Given the description of an element on the screen output the (x, y) to click on. 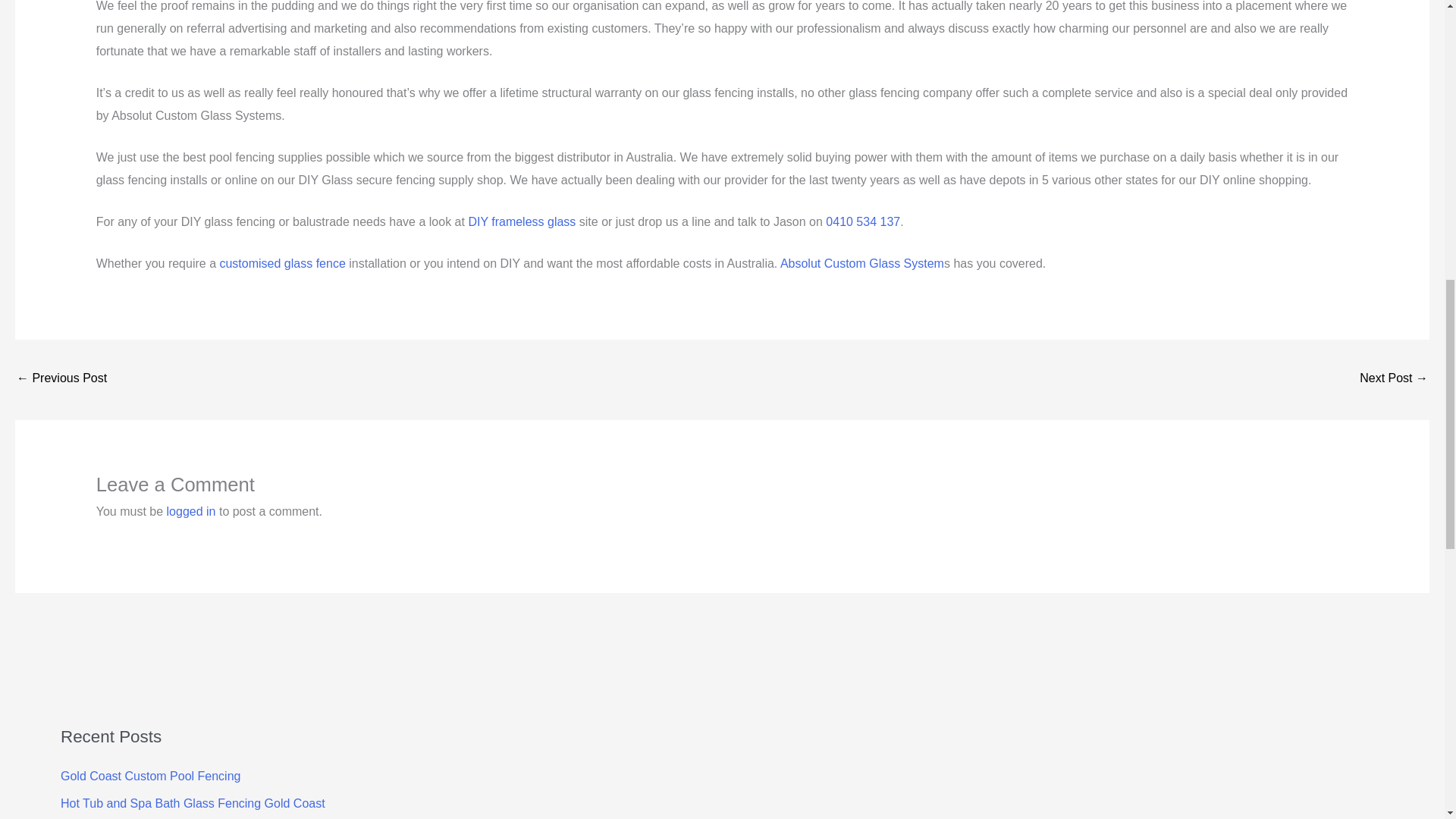
A few lessons about Public Swimming Pool Safety (61, 379)
Your Private Swimming Pool Is One Of Your Homes Best Assets (1393, 379)
